Given the description of an element on the screen output the (x, y) to click on. 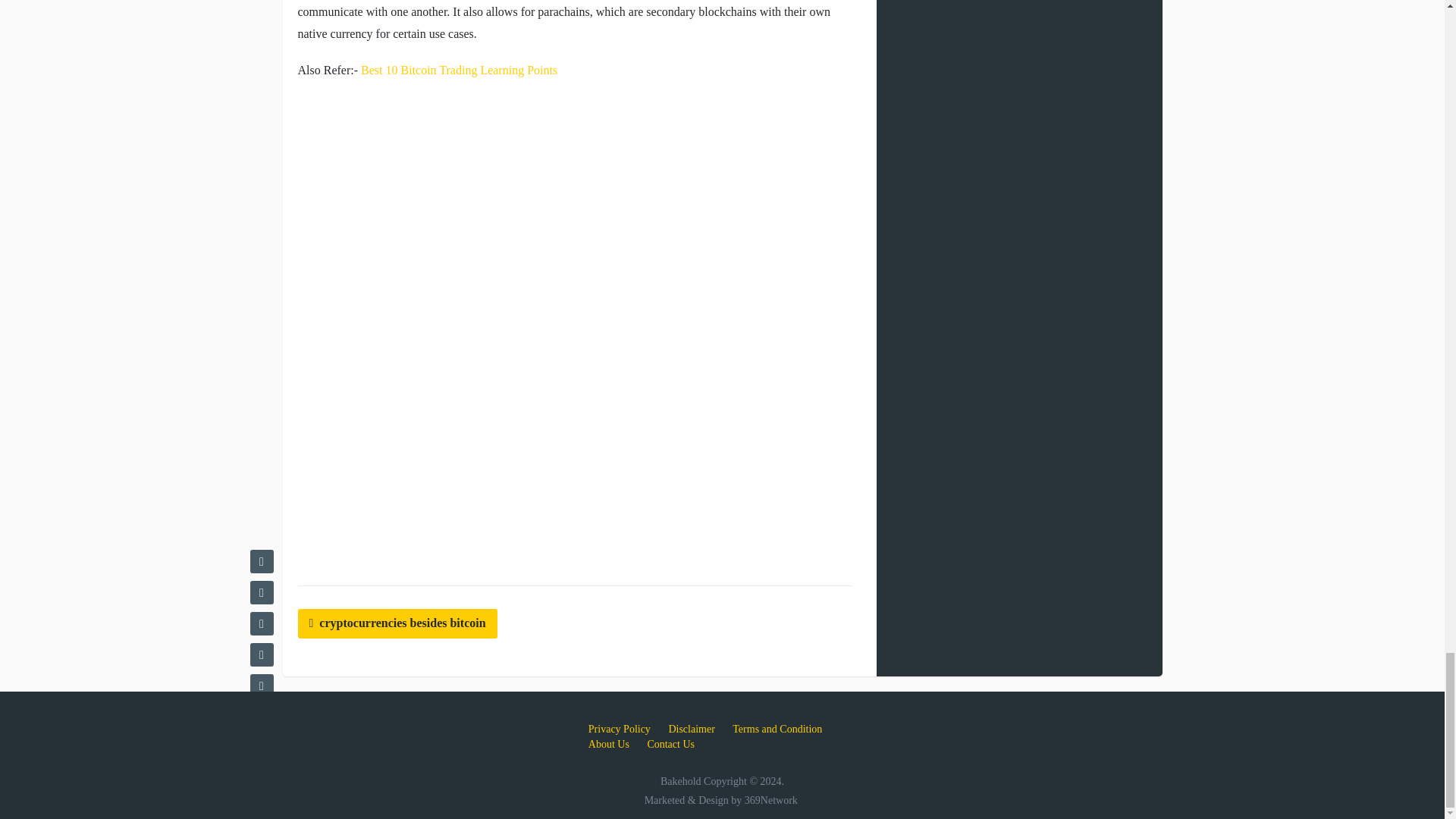
cryptocurrencies besides bitcoin (396, 623)
Best 10 Bitcoin Trading Learning Points (459, 69)
